Given the description of an element on the screen output the (x, y) to click on. 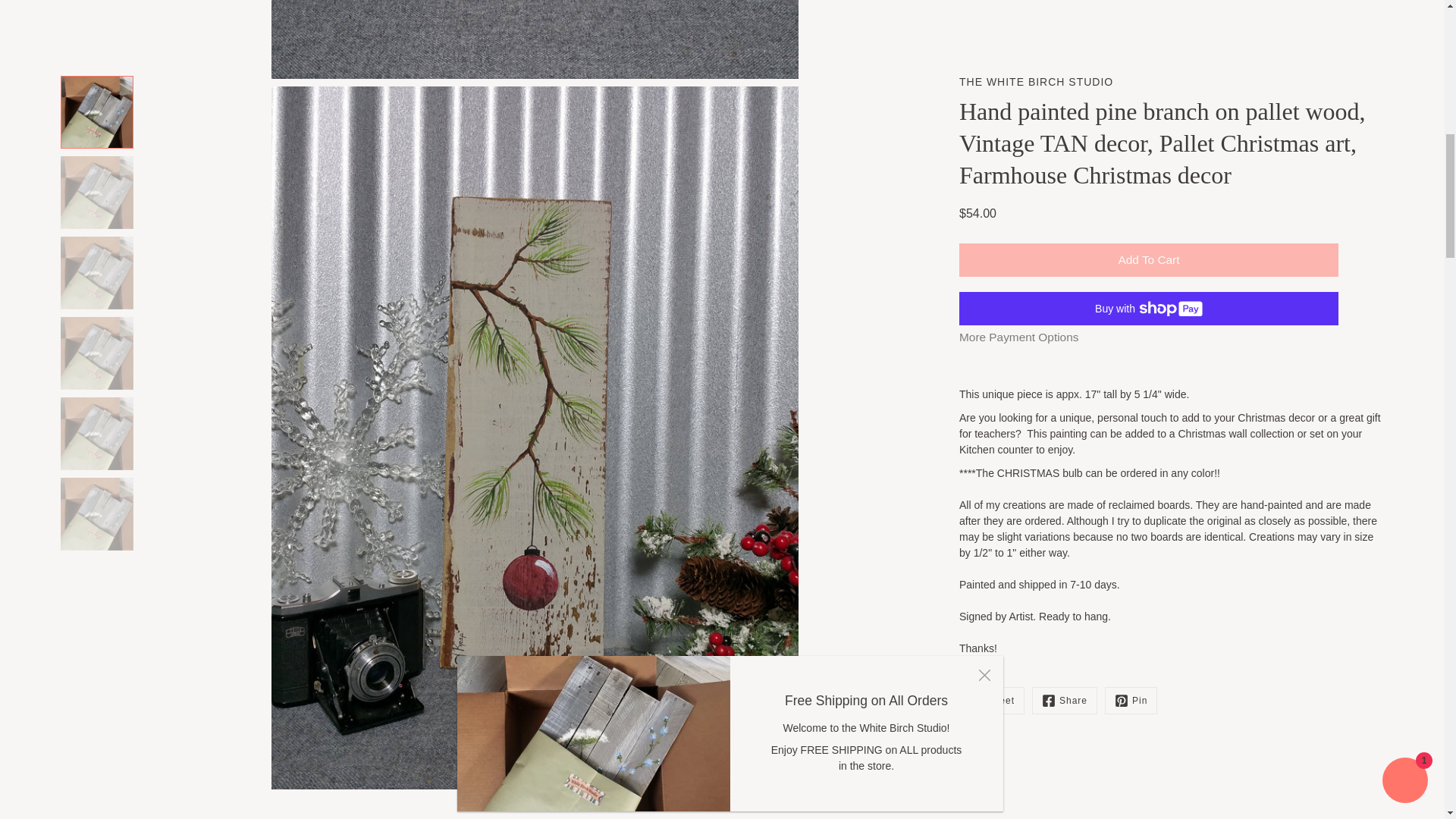
Twitter (992, 7)
Pinterest (1131, 7)
Facebook (1064, 7)
